Given the description of an element on the screen output the (x, y) to click on. 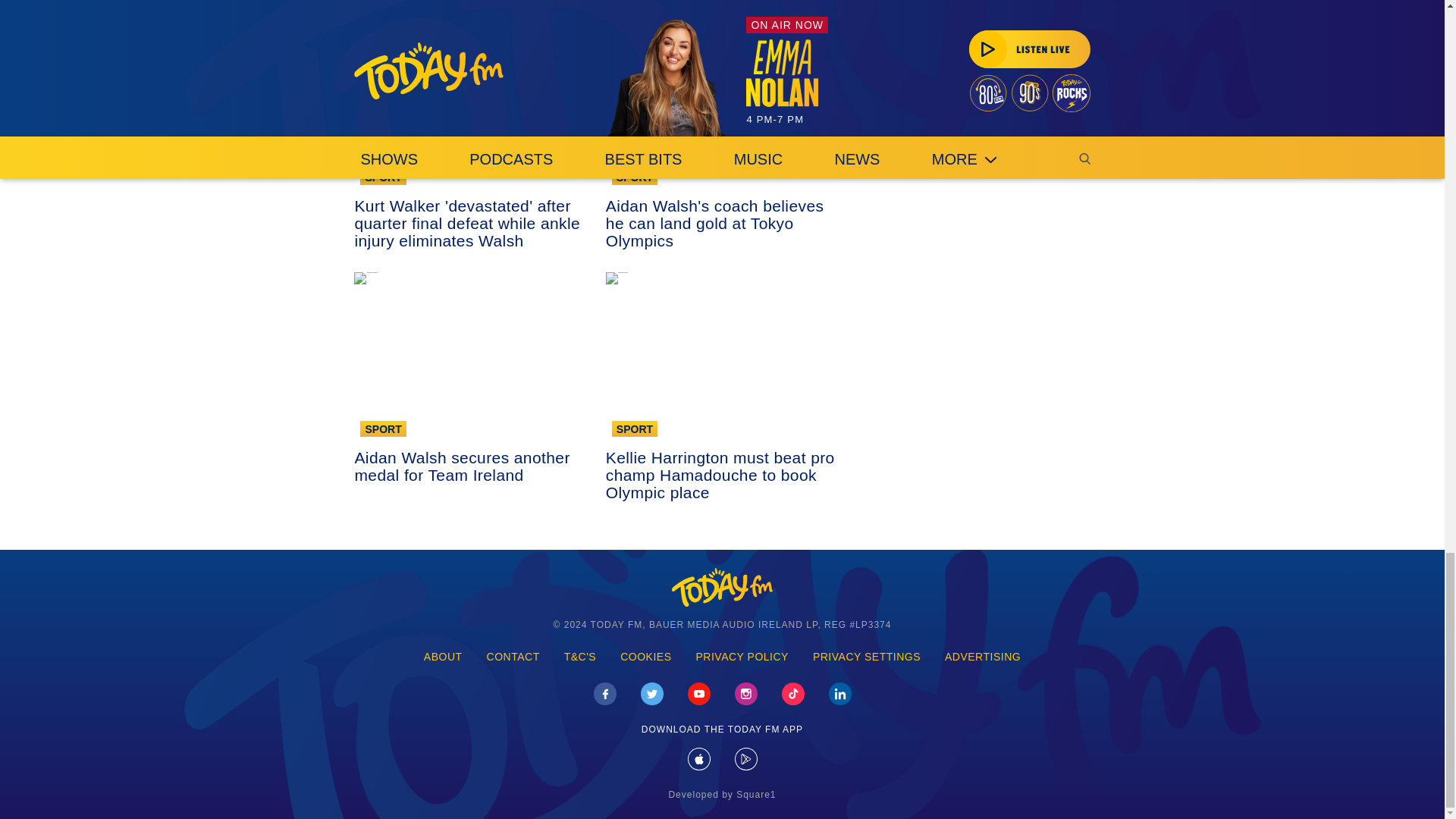
Cookies (645, 656)
Privacy settings (866, 656)
About (443, 656)
Advertising (982, 656)
Privacy Policy (742, 656)
Contact (512, 656)
